Given the description of an element on the screen output the (x, y) to click on. 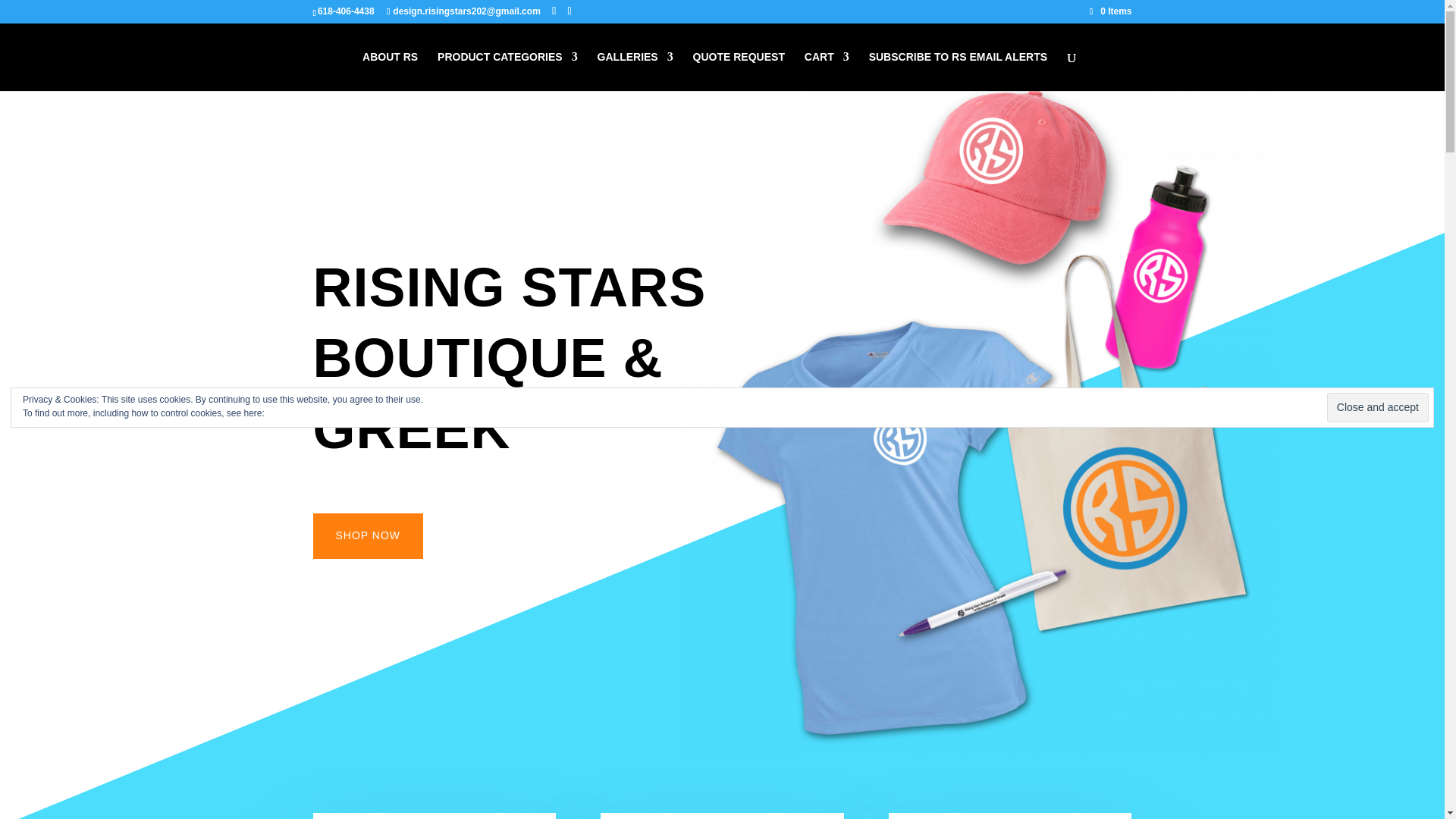
GALLERIES (634, 70)
Close and accept (1377, 407)
PRODUCT CATEGORIES (508, 70)
ABOUT RS (389, 70)
0 Items (1110, 10)
